Given the description of an element on the screen output the (x, y) to click on. 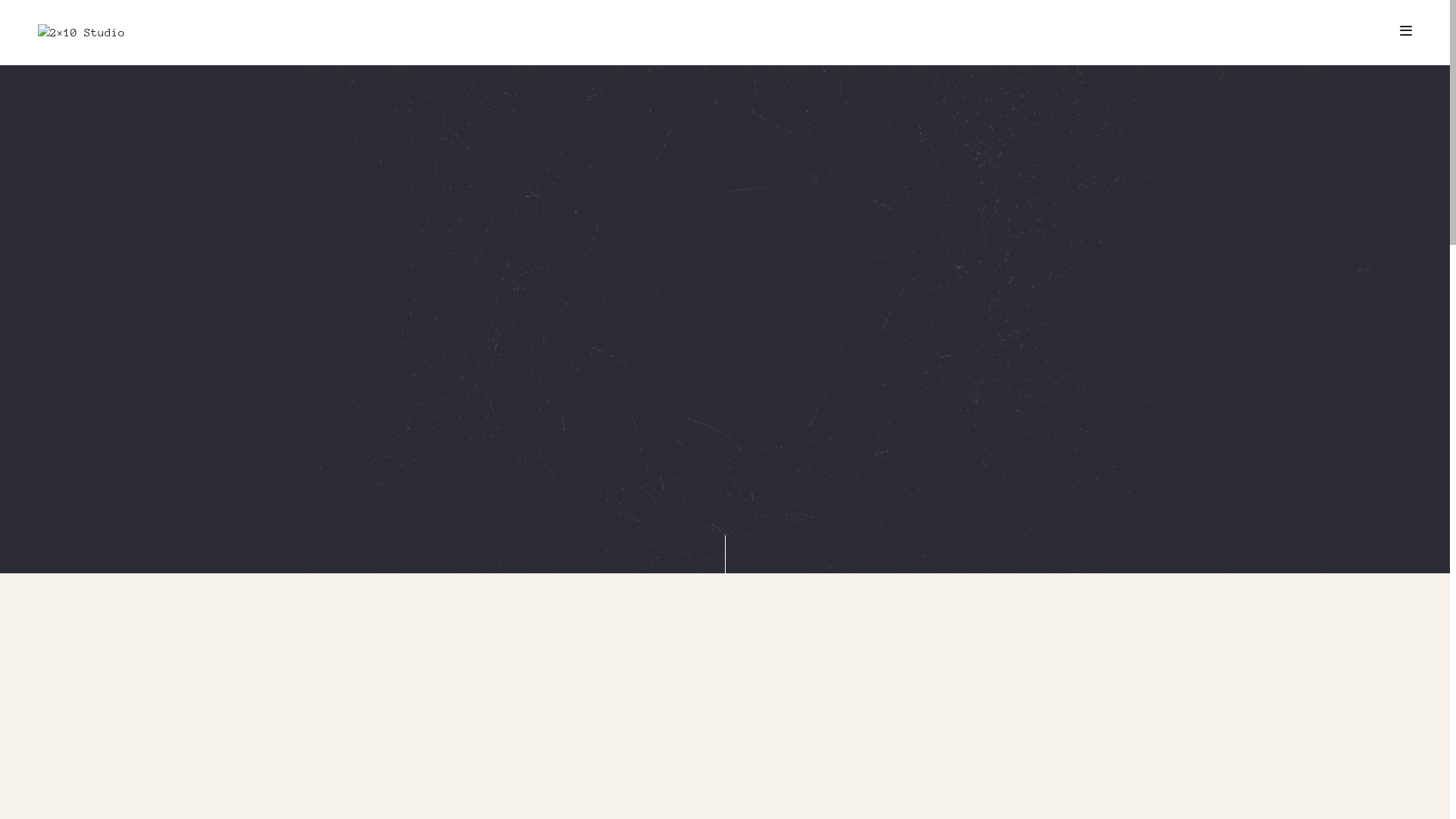
Facebook Element type: text (560, 636)
Instagram Element type: text (560, 653)
Enebish Designs Element type: text (1227, 636)
mgmt@2x10studio.com Element type: text (888, 653)
info@2x10studio.com Element type: text (888, 636)
Buy A Gift Card Element type: text (888, 670)
Search Element type: text (44, 16)
